Given the description of an element on the screen output the (x, y) to click on. 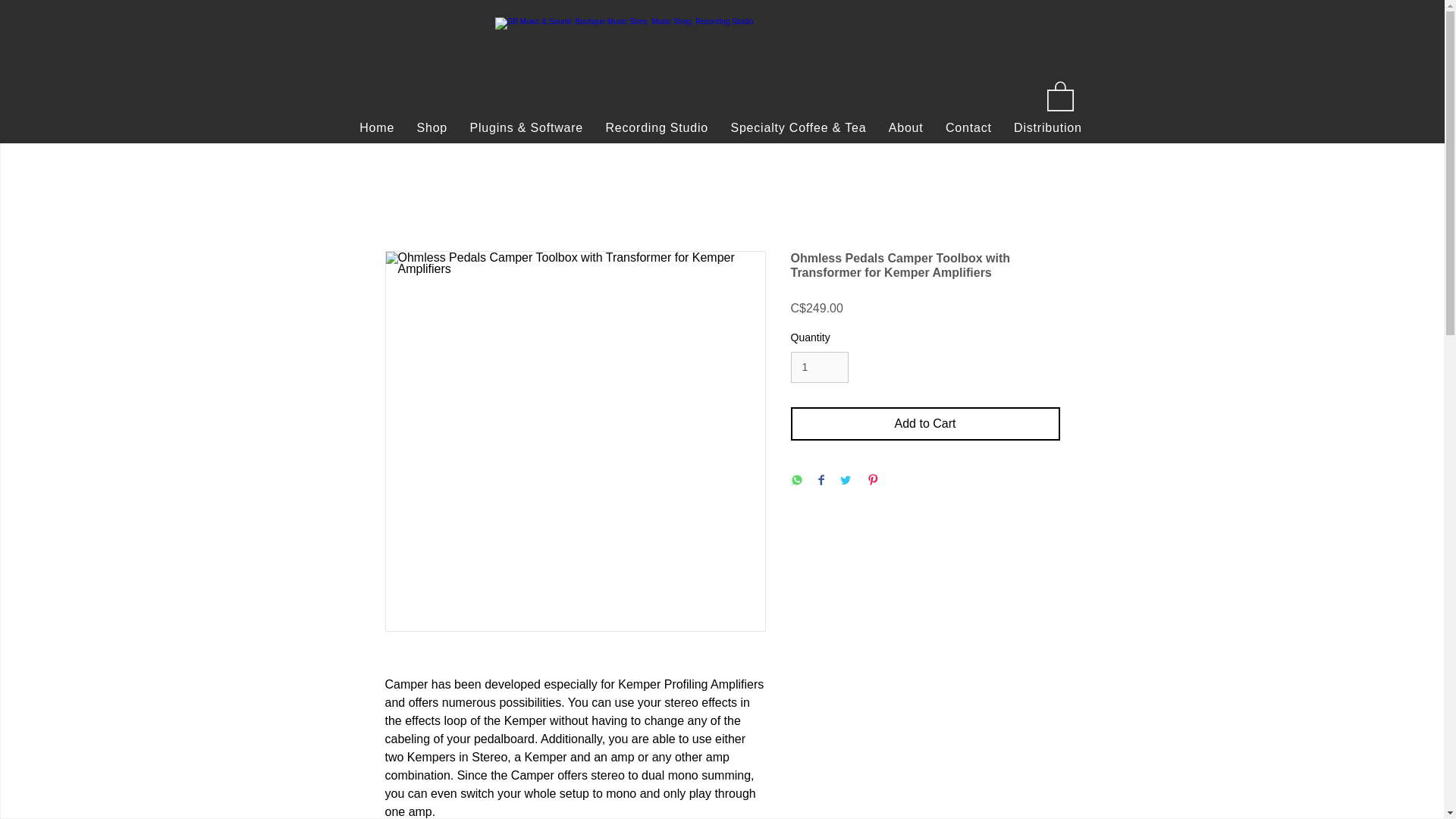
Shop (432, 128)
1 (818, 367)
Home (376, 128)
